Given the description of an element on the screen output the (x, y) to click on. 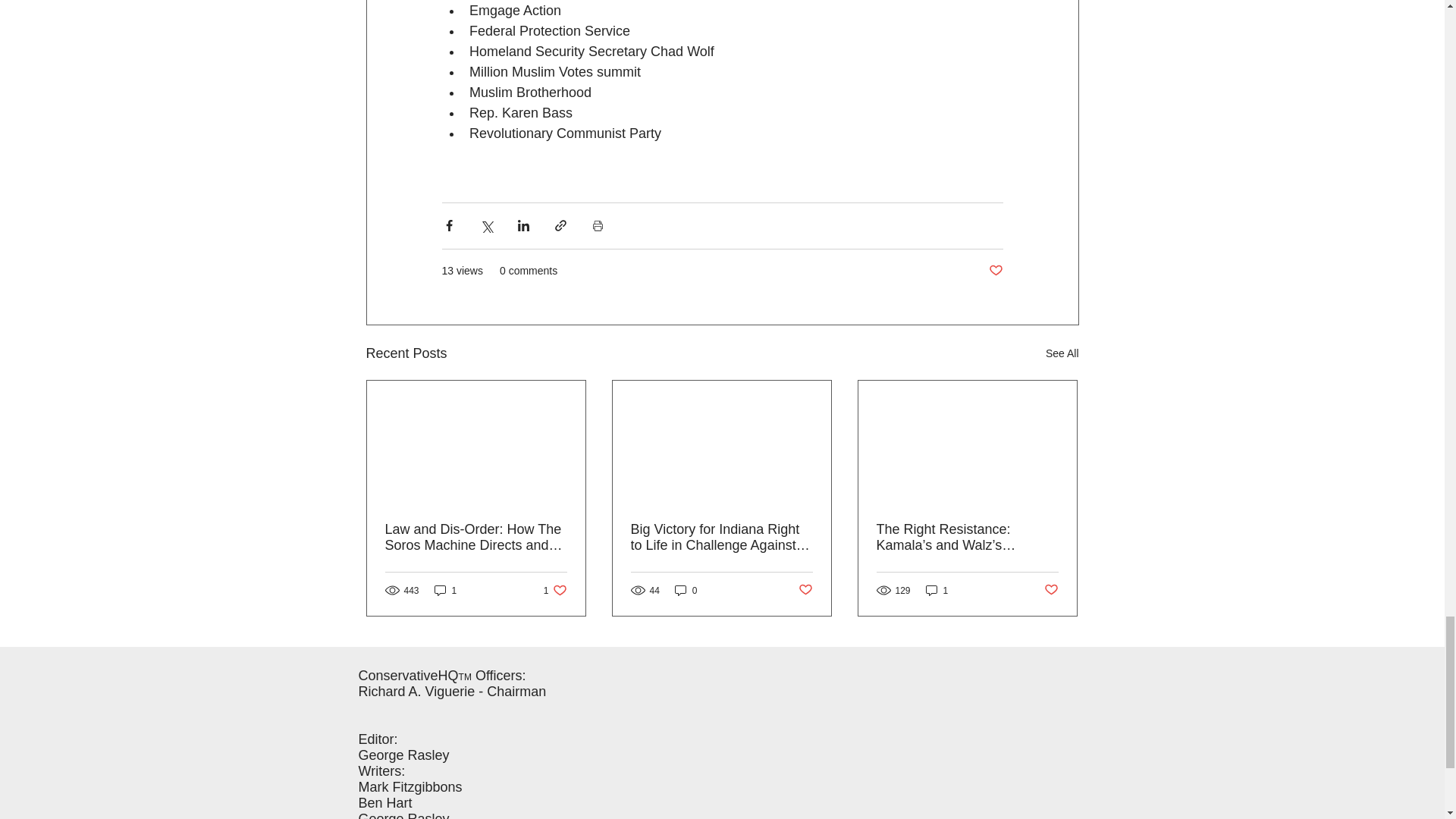
Post not marked as liked (995, 270)
See All (1061, 353)
0 (555, 590)
1 (685, 590)
